Given the description of an element on the screen output the (x, y) to click on. 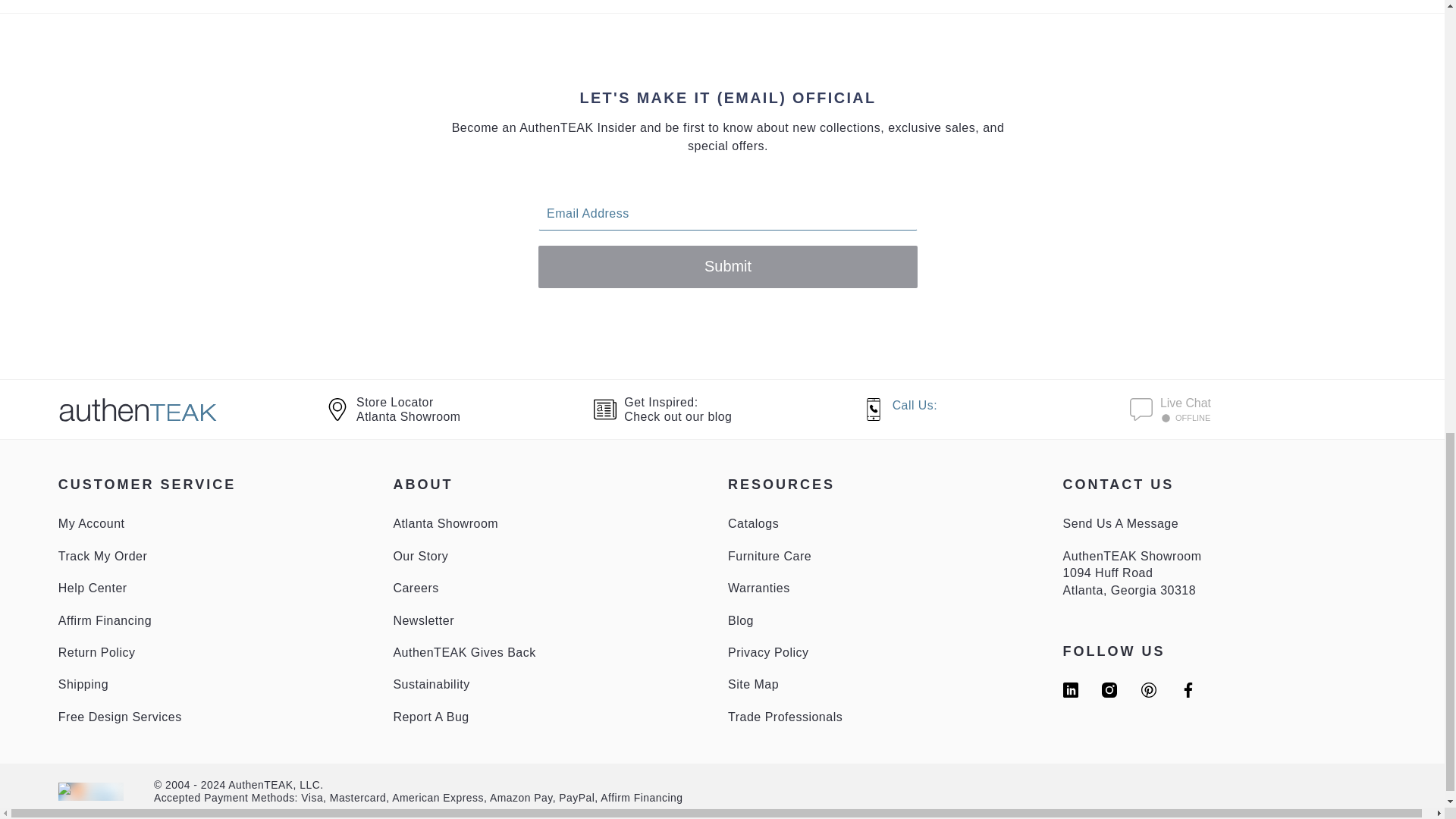
My Account (727, 409)
Free Design Services (91, 522)
AuthenTEAK Gives Back (120, 716)
Return Policy (464, 652)
Shipping (96, 652)
Report A Bug (82, 684)
Track My Order (430, 716)
Newsletter (103, 555)
authenteak.com (423, 620)
